Given the description of an element on the screen output the (x, y) to click on. 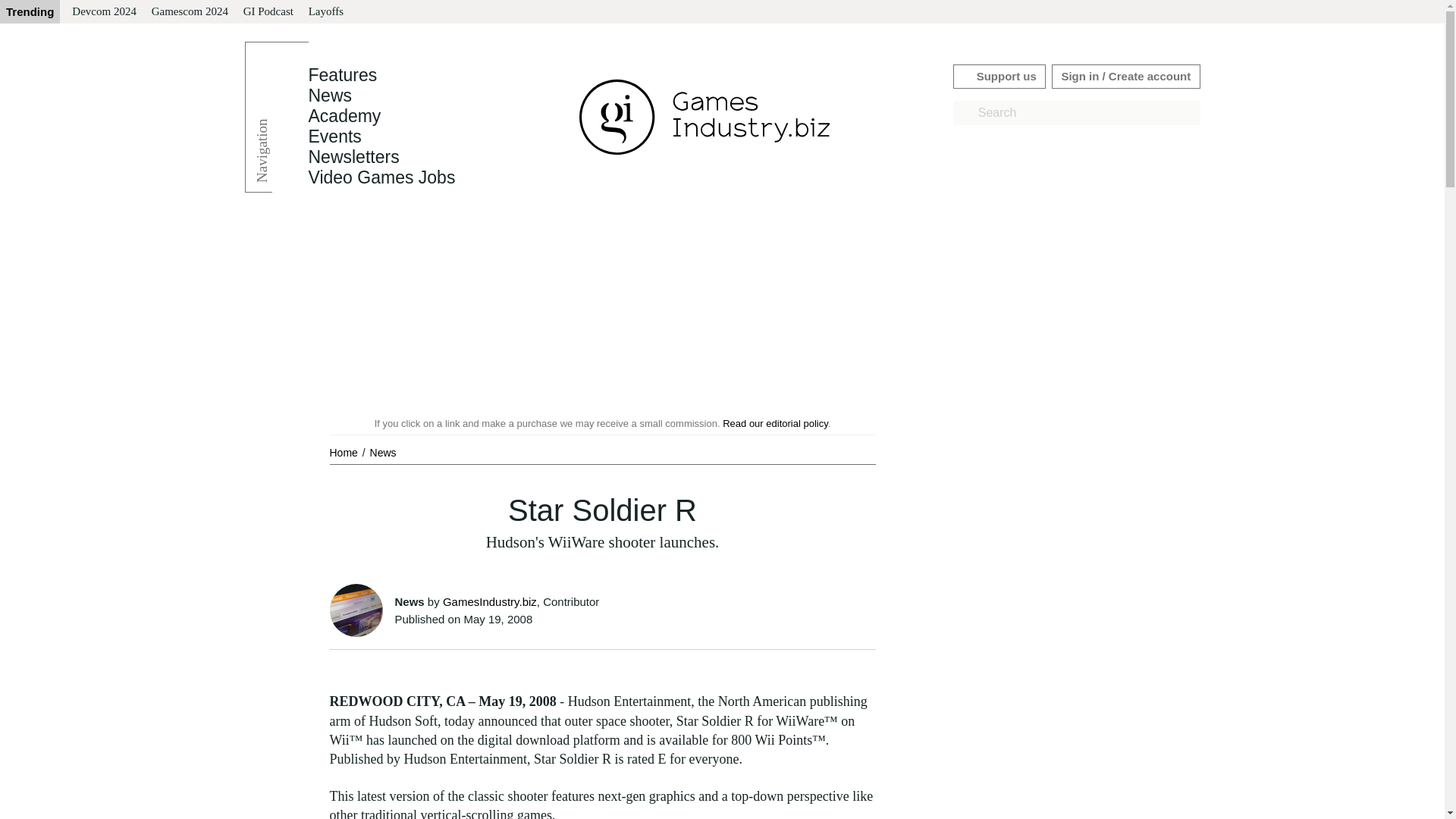
Events (334, 136)
Devcom 2024 (103, 11)
Features (342, 75)
Gamescom 2024 (189, 11)
Support us (999, 75)
Events (334, 136)
Home (344, 452)
Devcom 2024 (103, 11)
Layoffs (325, 11)
News (382, 452)
